Given the description of an element on the screen output the (x, y) to click on. 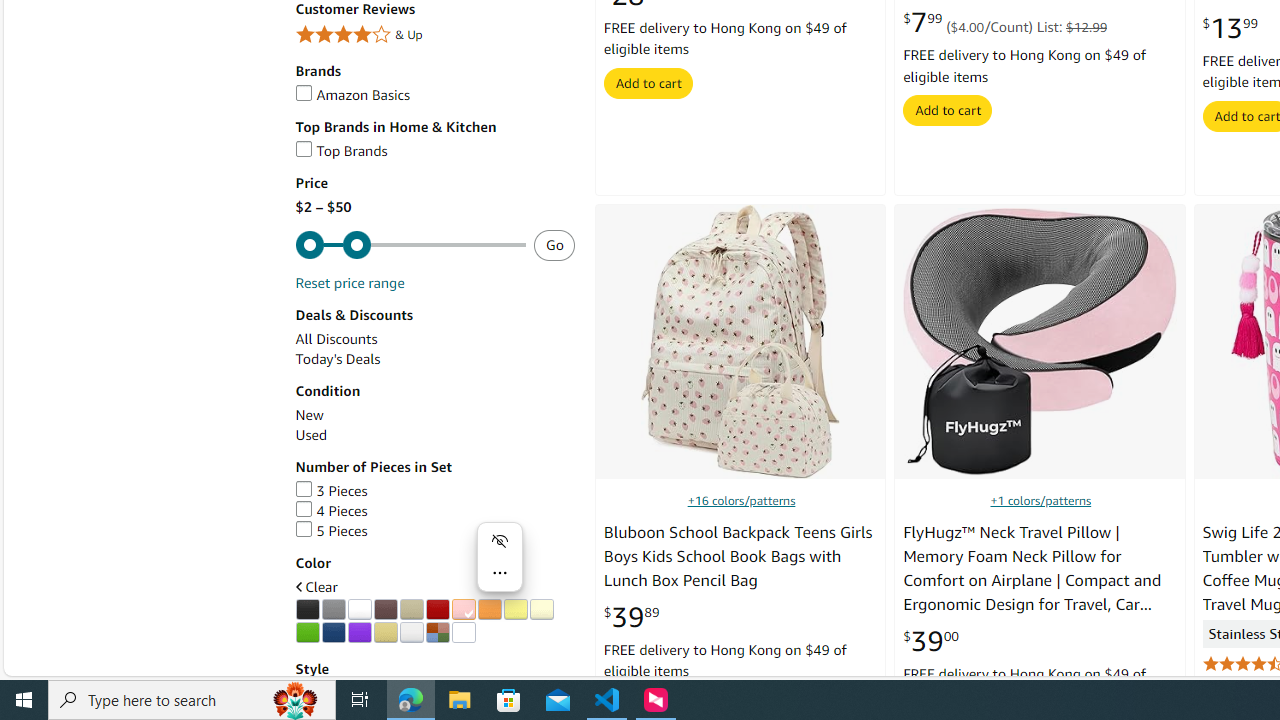
White (359, 609)
Go back to filtering menu (84, 666)
AutomationID: p_n_feature_twenty_browse-bin/3254112011 (411, 632)
Orange (489, 609)
Brown (385, 609)
$13.99 (1230, 28)
3 Pieces (434, 491)
$39.89 (631, 617)
4 Pieces (331, 511)
$39.00 (930, 640)
AutomationID: p_n_feature_twenty_browse-bin/3254108011 (307, 632)
Grey (333, 609)
Clear (463, 632)
